Given the description of an element on the screen output the (x, y) to click on. 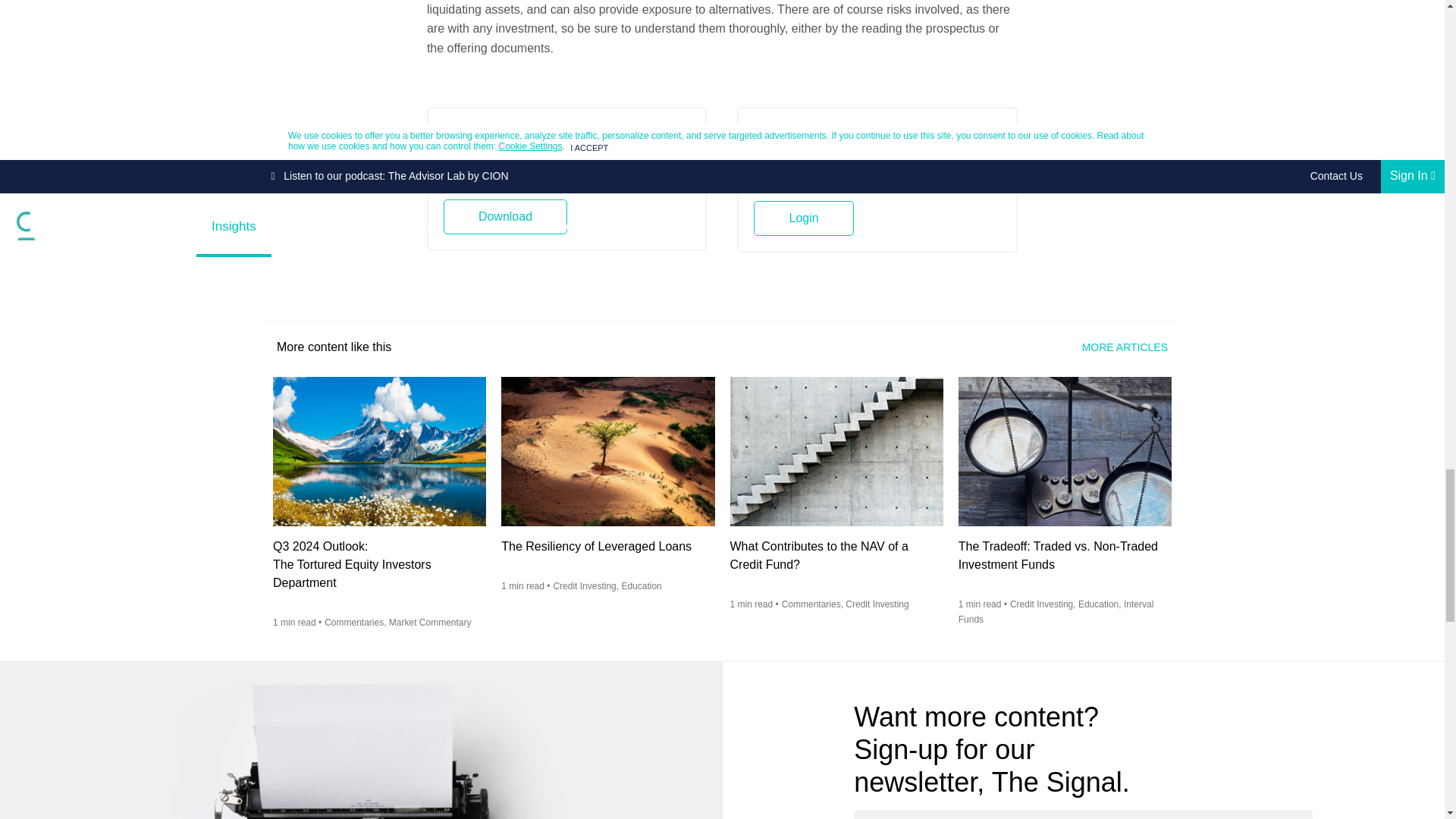
Page 2 (721, 28)
